Given the description of an element on the screen output the (x, y) to click on. 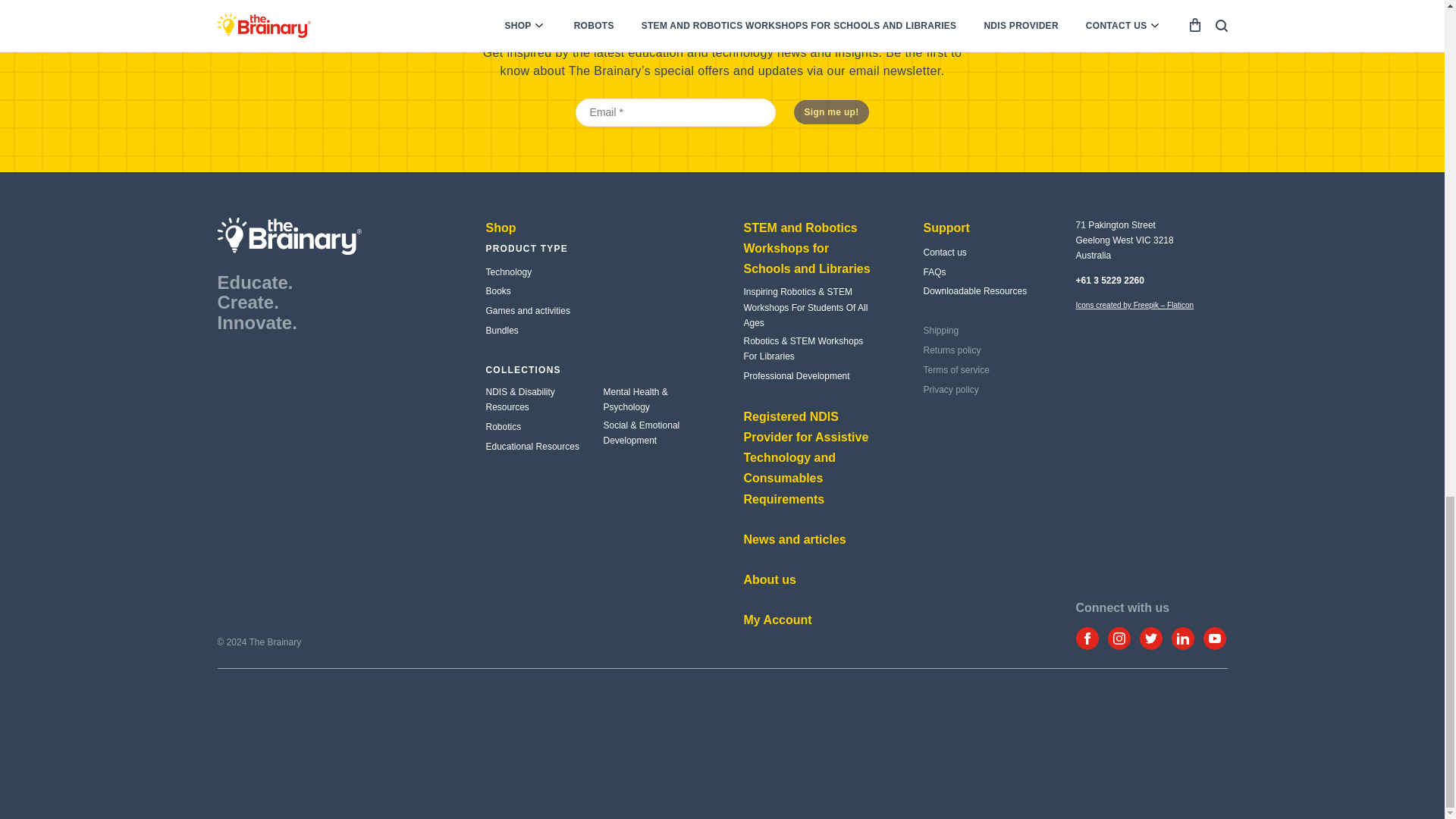
Sign me up! (831, 111)
machine learning icons (1134, 305)
